Given the description of an element on the screen output the (x, y) to click on. 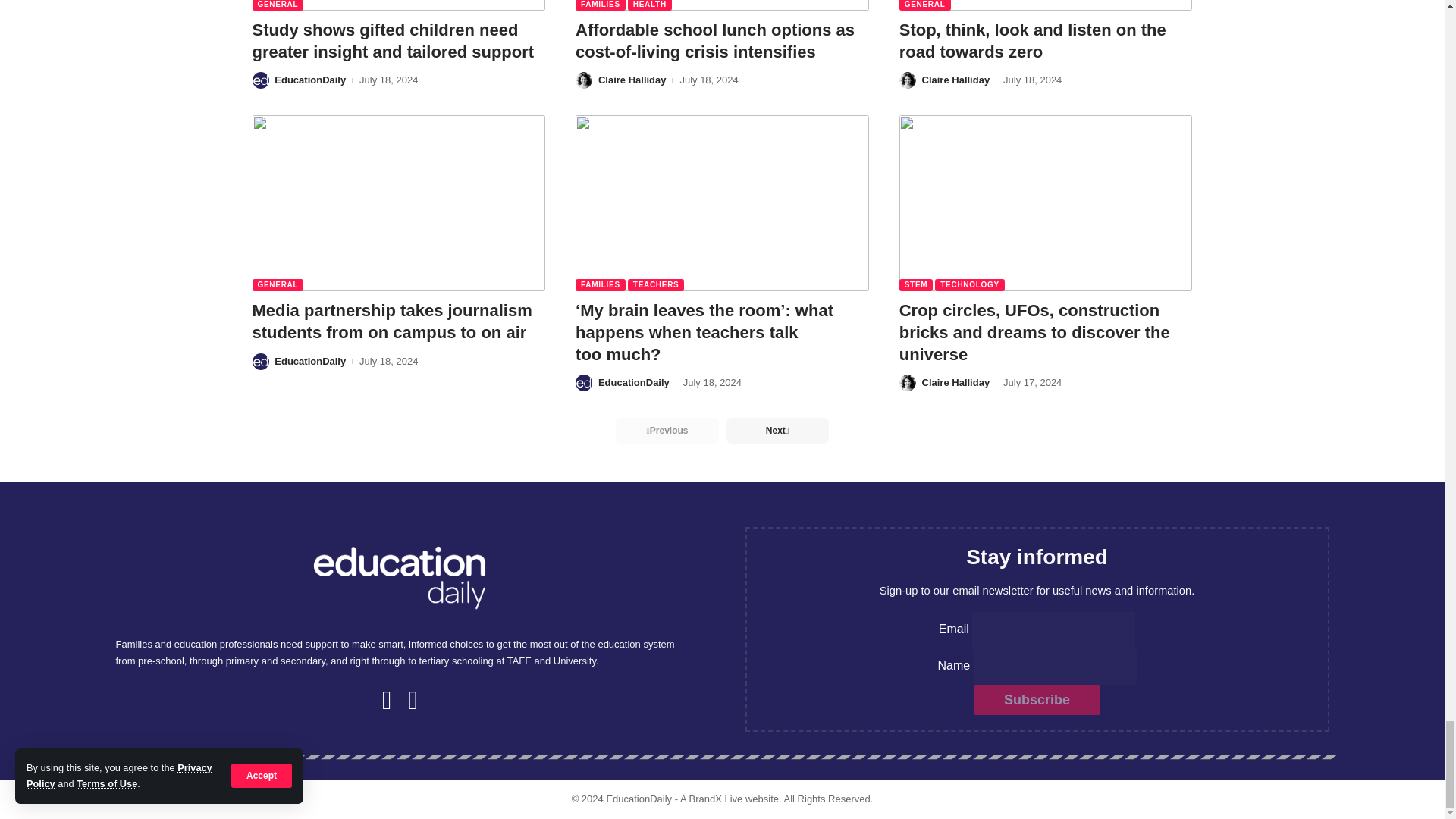
Subscribe (1037, 699)
